Given the description of an element on the screen output the (x, y) to click on. 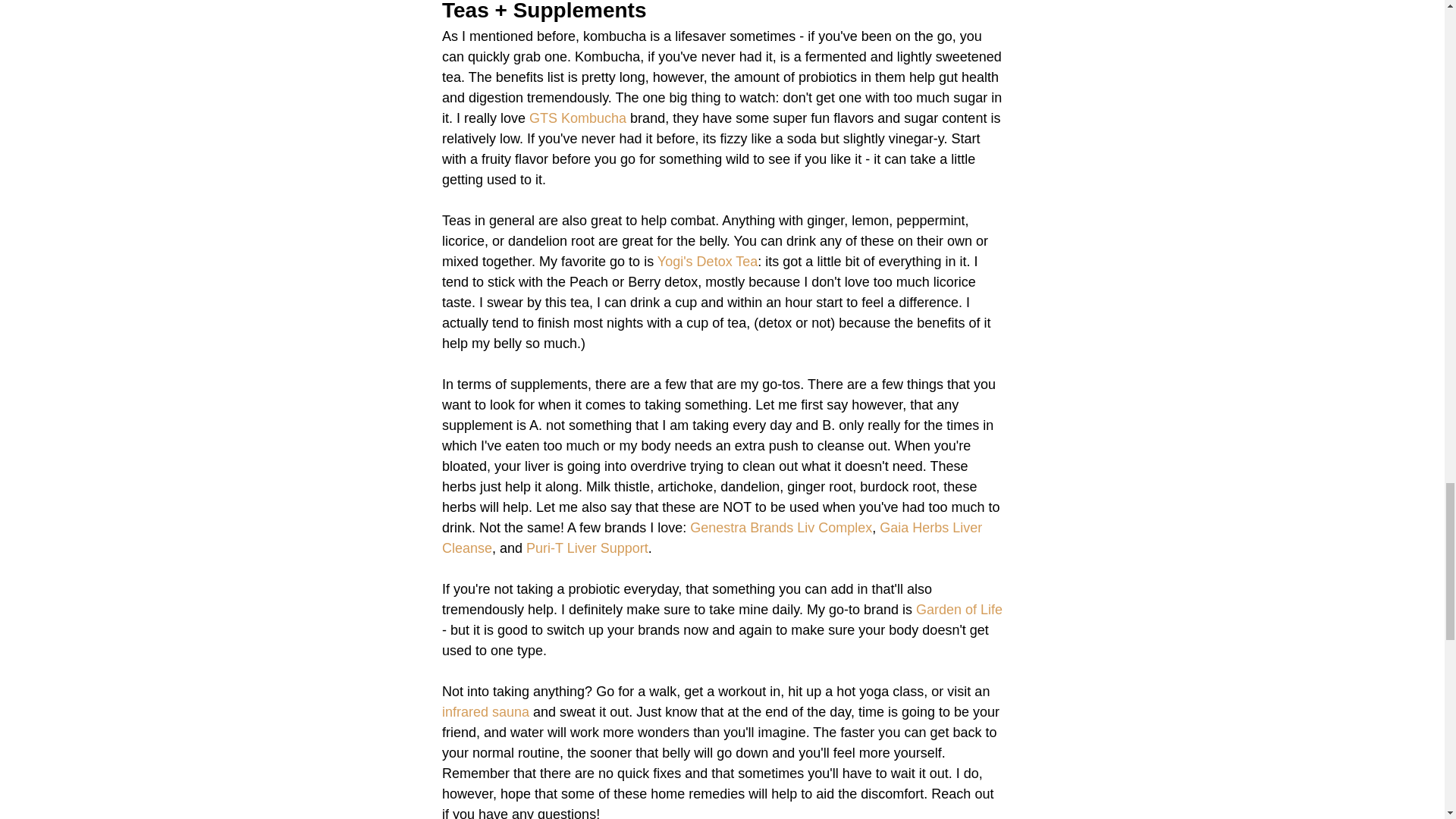
Gaia Herbs Liver Cleanse (713, 538)
Genestra Brands Liv Complex (781, 527)
Garden of Life (958, 609)
infrared sauna (484, 711)
GTS Kombucha (577, 118)
Yogi's Detox Tea (706, 261)
Puri-T Liver Support (586, 548)
